Given the description of an element on the screen output the (x, y) to click on. 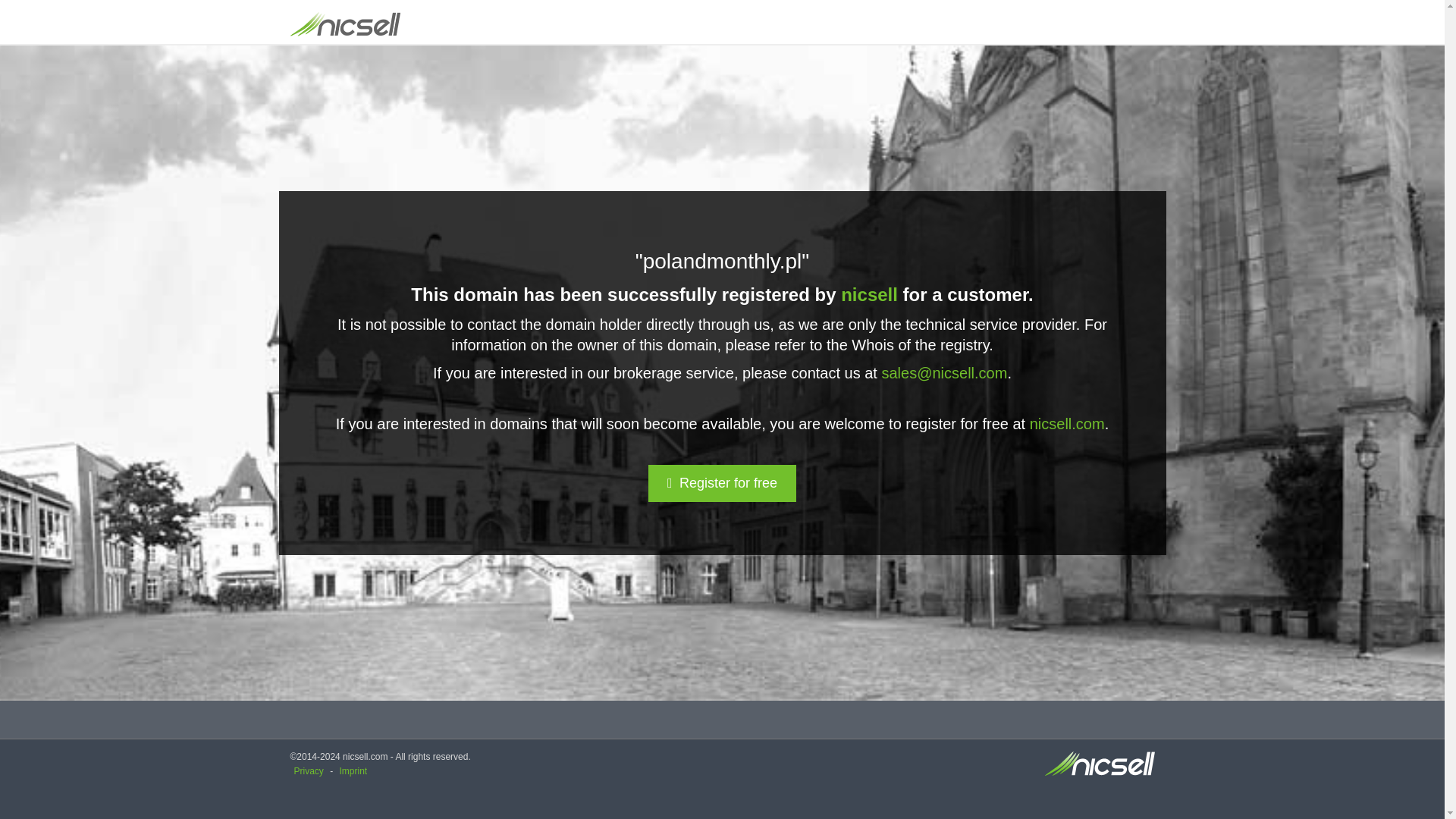
  Register for free (721, 483)
nicsell (869, 294)
Imprint (353, 770)
nicsell.com (1067, 423)
Privacy (308, 770)
